Given the description of an element on the screen output the (x, y) to click on. 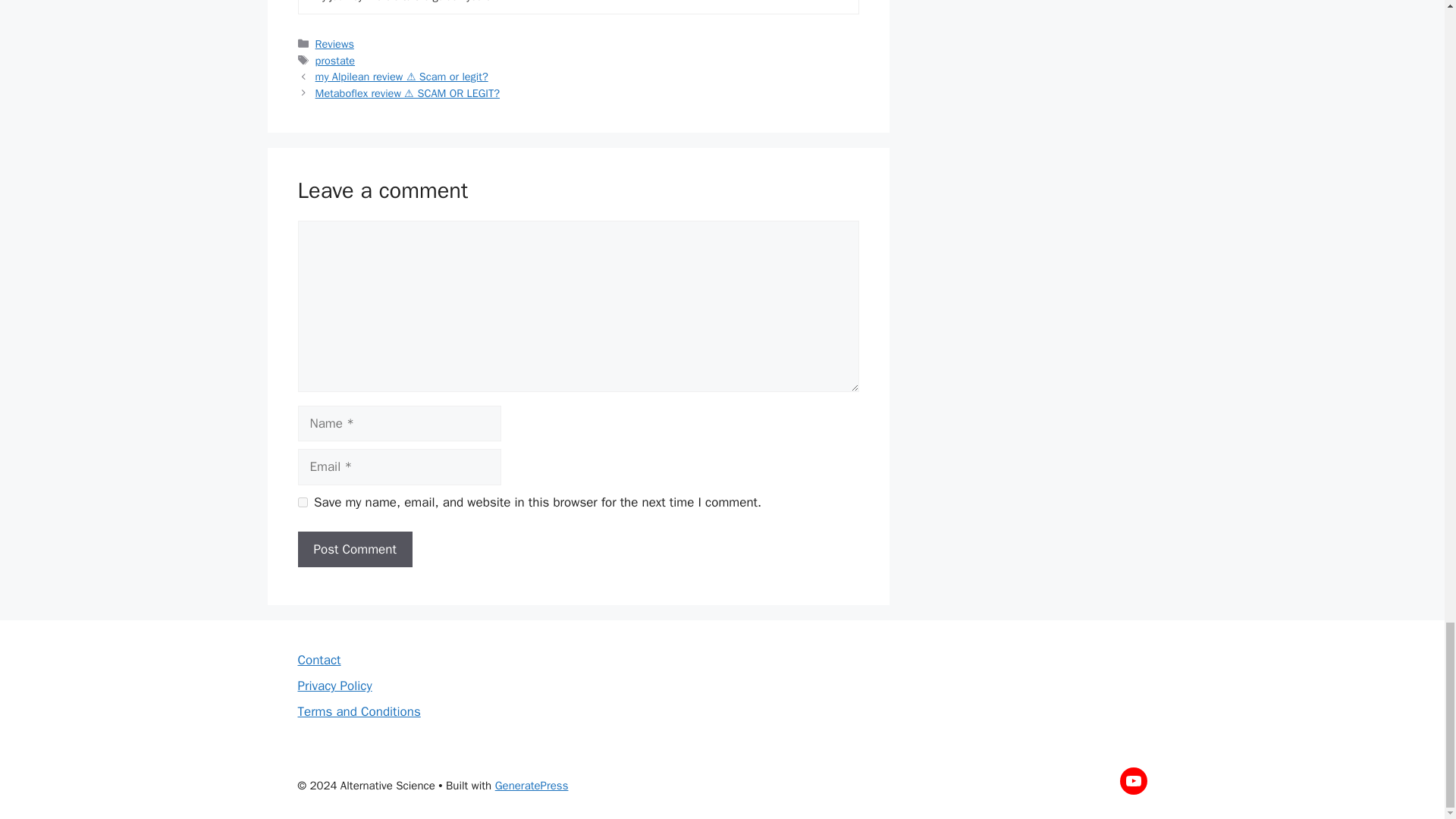
Reviews (334, 43)
Post Comment (354, 549)
prostate (335, 59)
yes (302, 501)
Post Comment (354, 549)
